Given the description of an element on the screen output the (x, y) to click on. 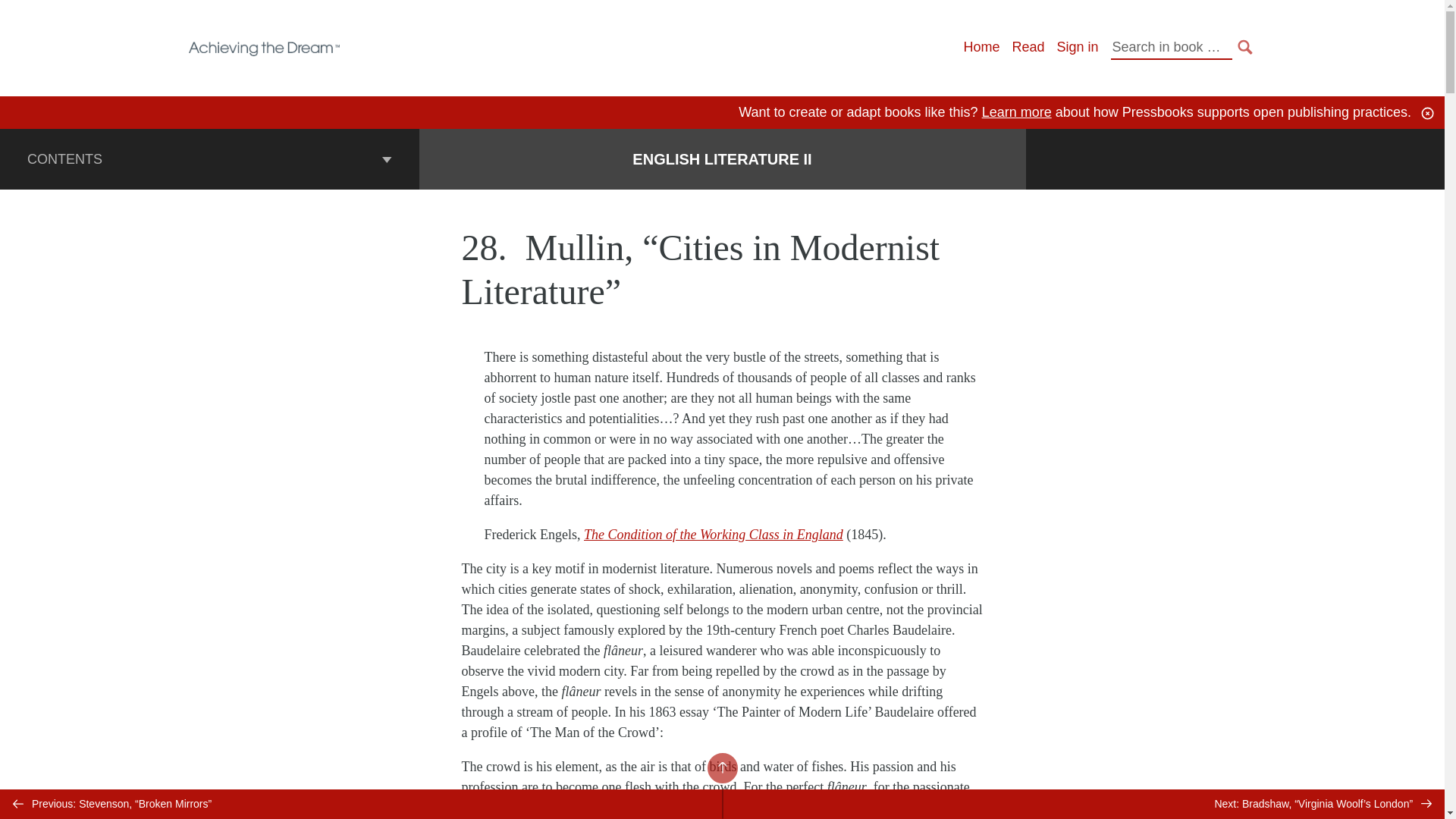
Sign in (1077, 46)
Read (1027, 46)
ENGLISH LITERATURE II (720, 159)
CONTENTS (209, 158)
Home (980, 46)
Learn more (1016, 111)
The Condition of the Working Class in England (713, 534)
